Given the description of an element on the screen output the (x, y) to click on. 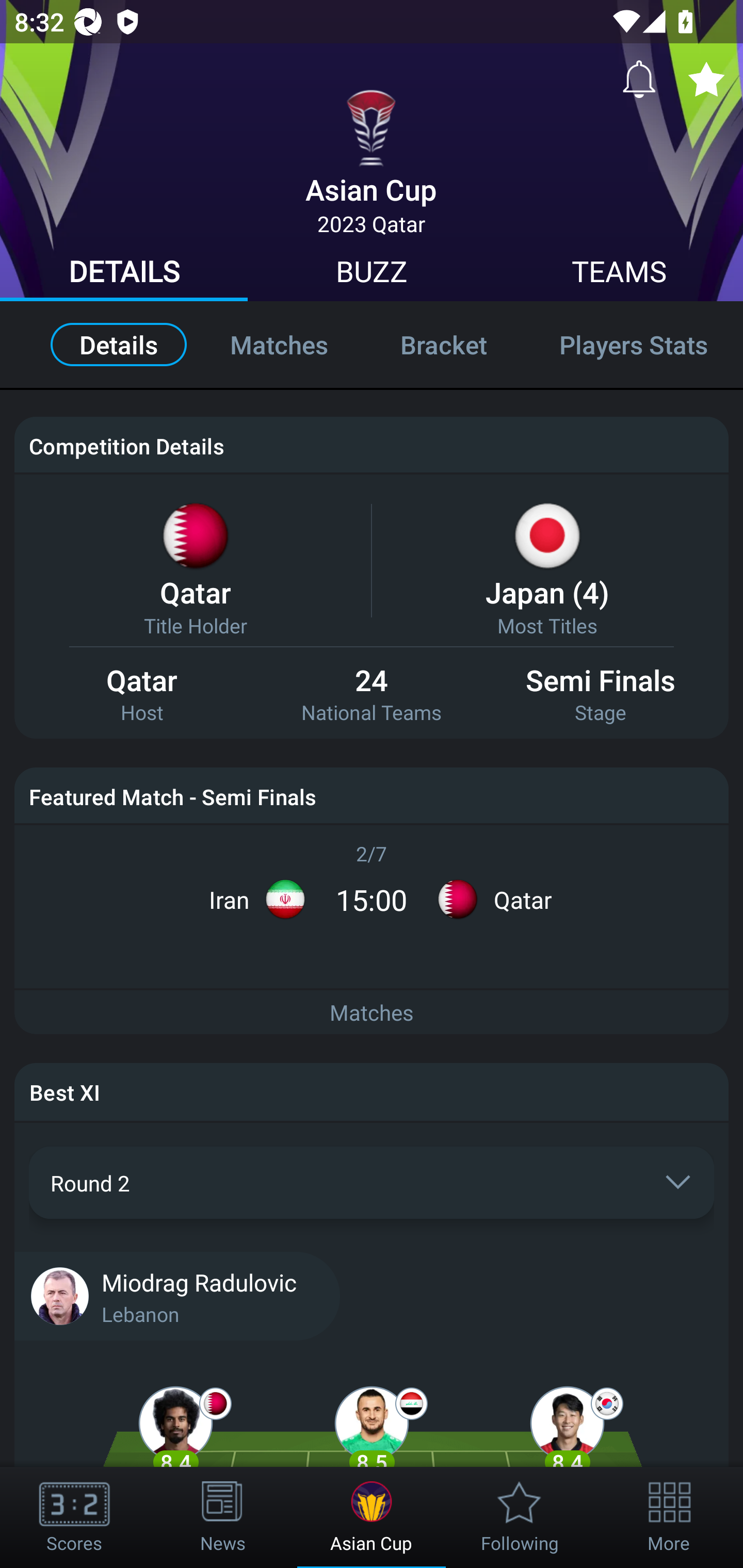
DETAILS (123, 274)
BUZZ (371, 274)
TEAMS (619, 274)
Matches (278, 344)
Bracket (443, 344)
Players Stats (633, 344)
Qatar (195, 591)
Japan (4) (547, 591)
Title Holder (195, 625)
Most Titles (547, 625)
24 National Teams (371, 694)
Semi Finals Stage (600, 694)
2/7 Iran 15:00 Qatar (371, 885)
Matches (371, 1012)
Round 2 (371, 1182)
Miodrag Radulovic Lebanon (371, 1294)
8.4 Afif (175, 1437)
Hussein 8.5 (371, 1437)
8.4 Son (566, 1437)
Scores (74, 1517)
News (222, 1517)
Following (519, 1517)
More (668, 1517)
